Given the description of an element on the screen output the (x, y) to click on. 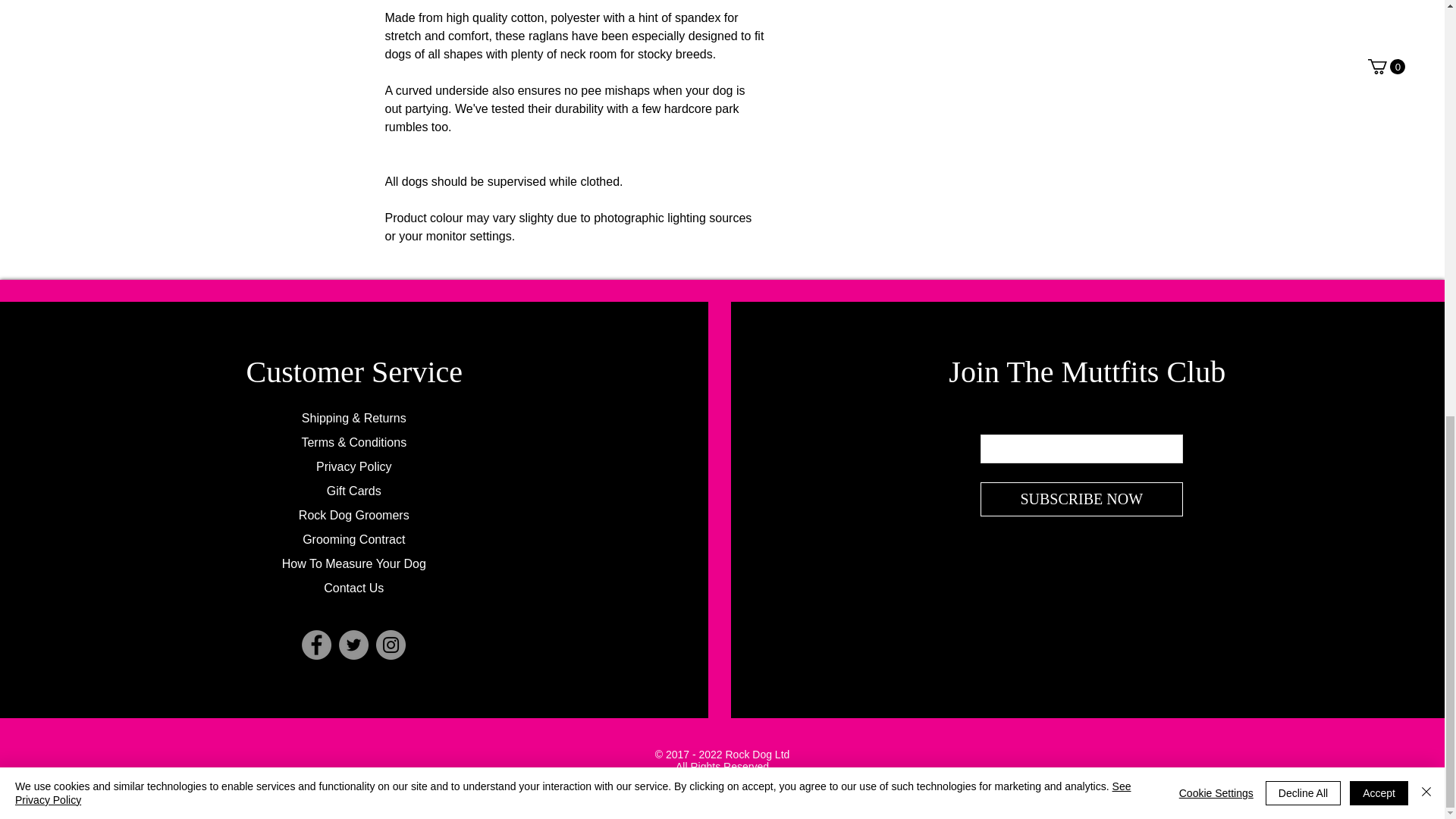
Rock Dog Groomers (353, 514)
Gift Cards (353, 490)
Grooming Contract (353, 539)
Privacy Policy (353, 466)
